Given the description of an element on the screen output the (x, y) to click on. 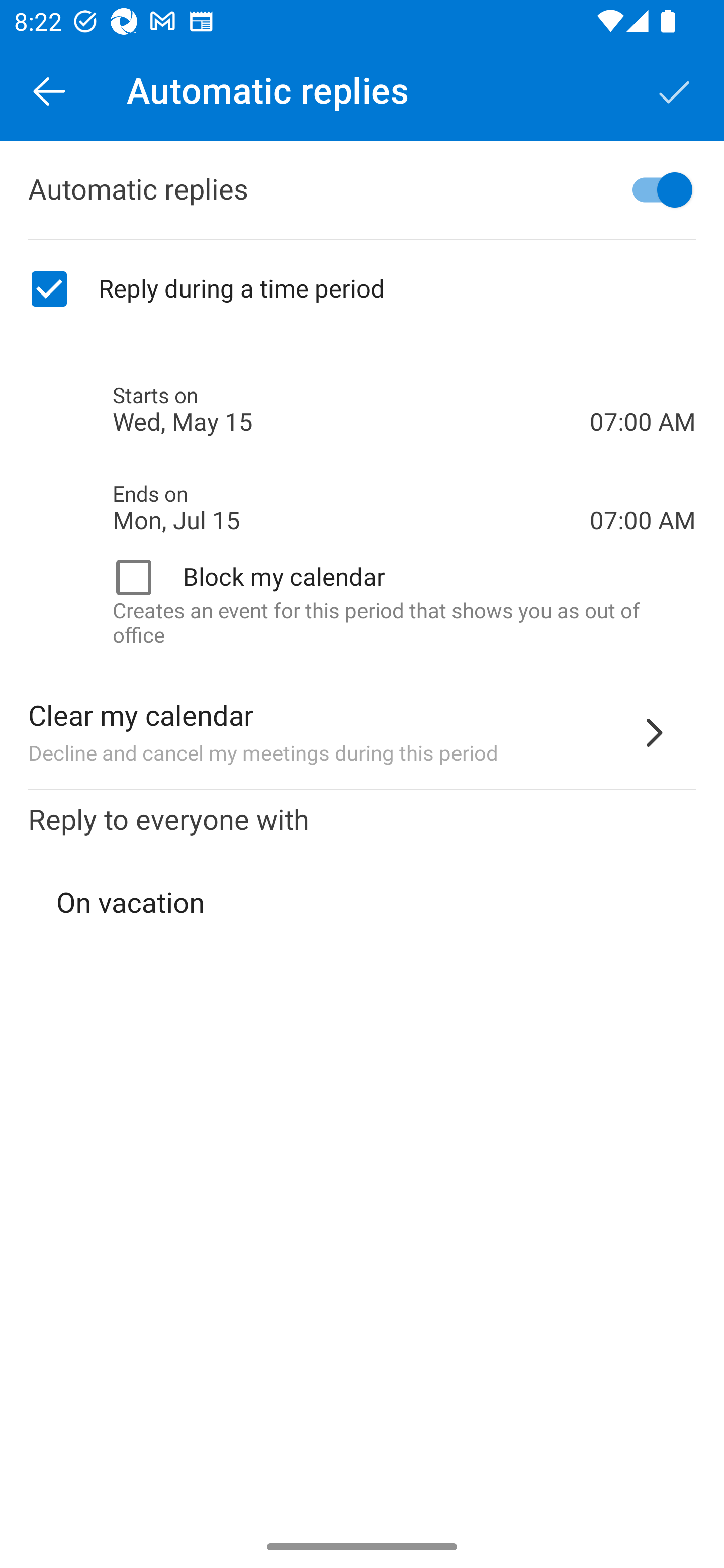
Back (49, 90)
Save (674, 90)
Automatic replies (362, 190)
Reply during a time period (362, 288)
07:00 AM (642, 387)
Starts on Wed, May 15 (351, 409)
07:00 AM (642, 485)
Ends on Mon, Jul 15 (351, 507)
Reply to everyone with Edit box On vacation (361, 887)
On vacation (363, 902)
